Given the description of an element on the screen output the (x, y) to click on. 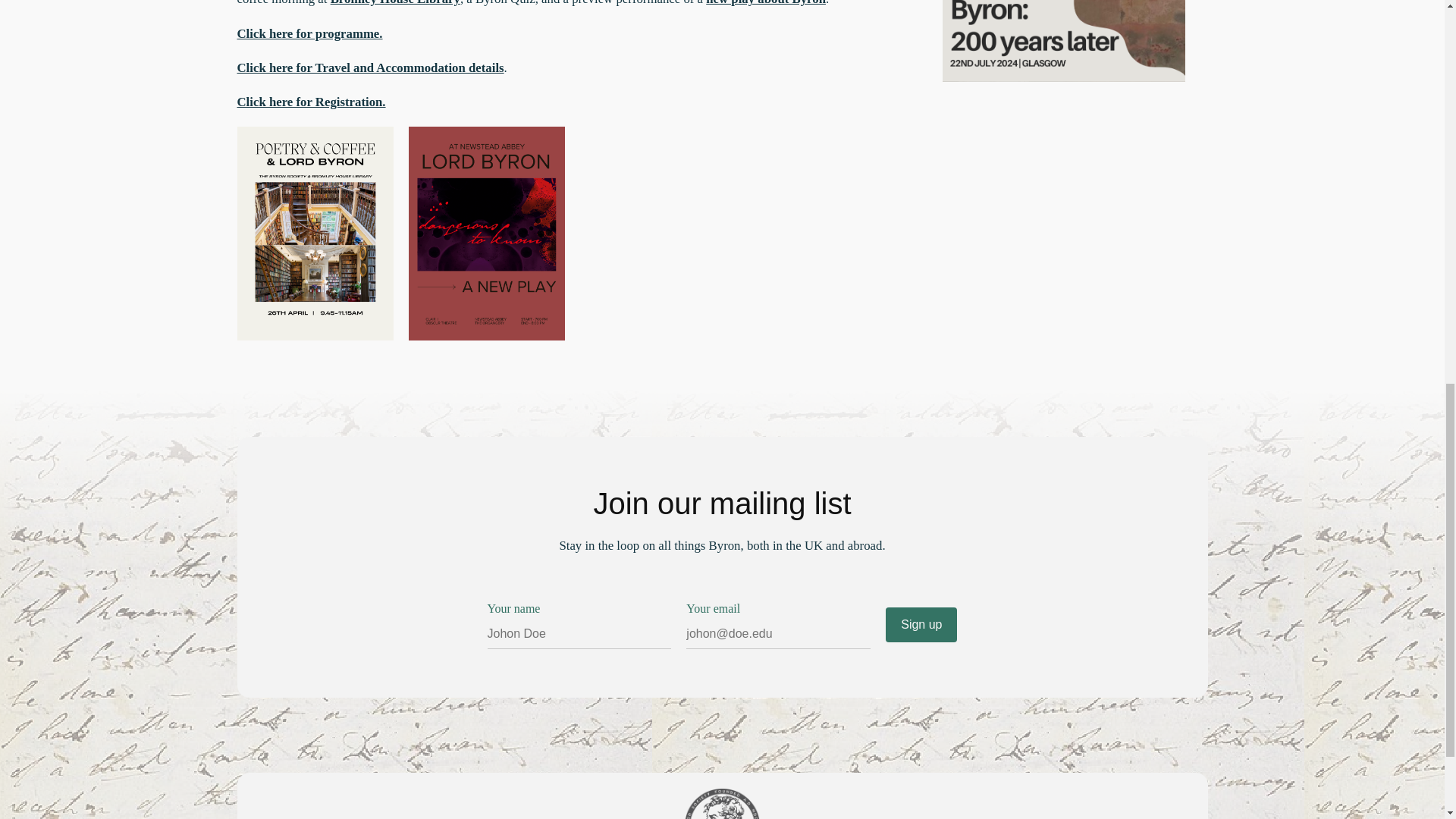
Sign up (920, 624)
Click here for Travel and Accommodation details (369, 67)
Sign up (920, 624)
new play about Byron (765, 2)
Bromley House Library (395, 2)
Click here for programme. (308, 33)
Click here for Registration. (310, 101)
